Given the description of an element on the screen output the (x, y) to click on. 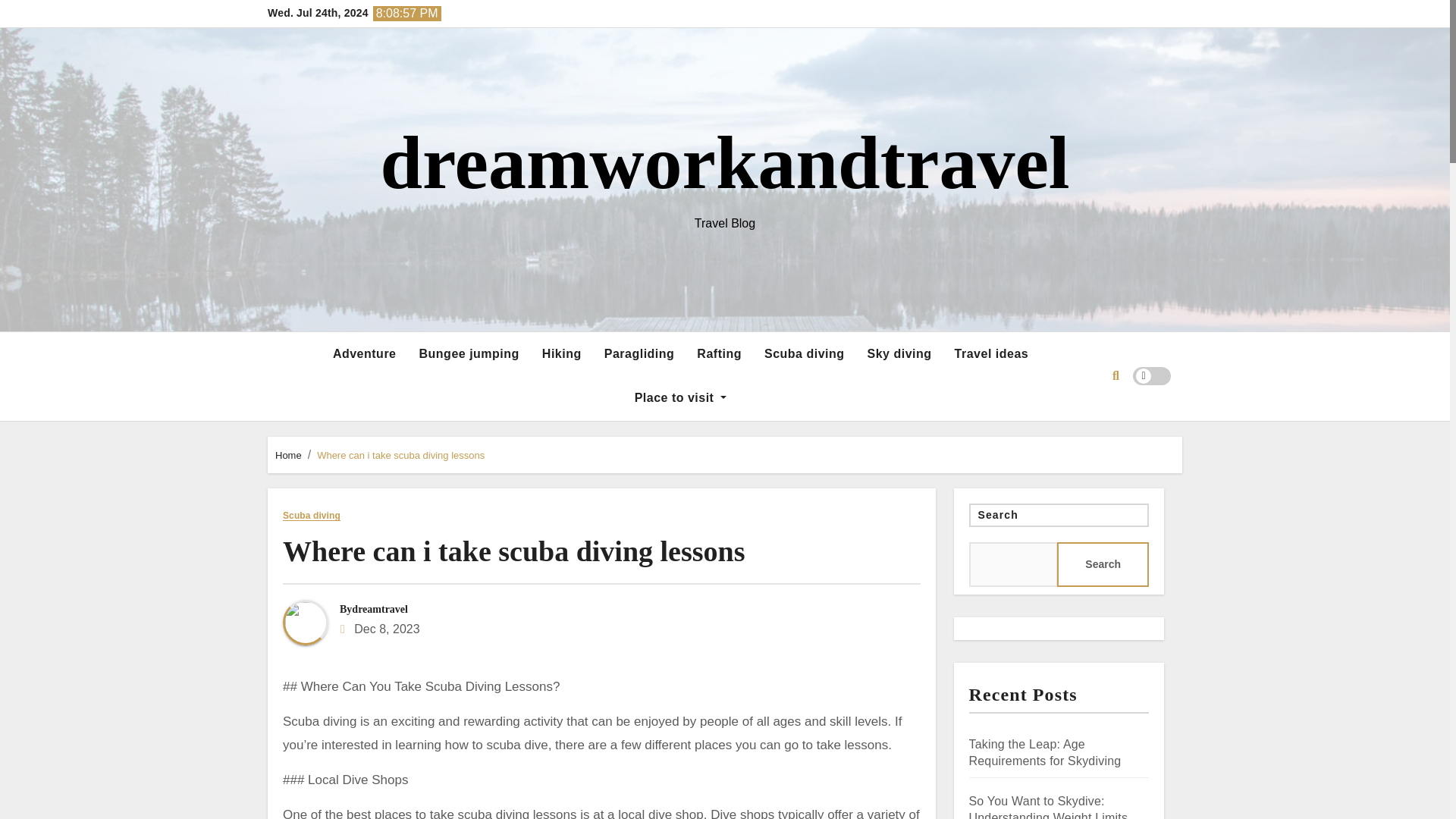
Travel ideas (992, 353)
Sky diving (899, 353)
Where can i take scuba diving lessons (400, 455)
Where can i take scuba diving lessons (513, 551)
Place to visit (680, 397)
Scuba diving (804, 353)
Hiking (561, 353)
Adventure (364, 353)
Rafting (718, 353)
Home (288, 455)
Sky diving (899, 353)
Scuba diving (311, 515)
Paragliding (638, 353)
dreamtravel (379, 609)
Travel ideas (992, 353)
